Given the description of an element on the screen output the (x, y) to click on. 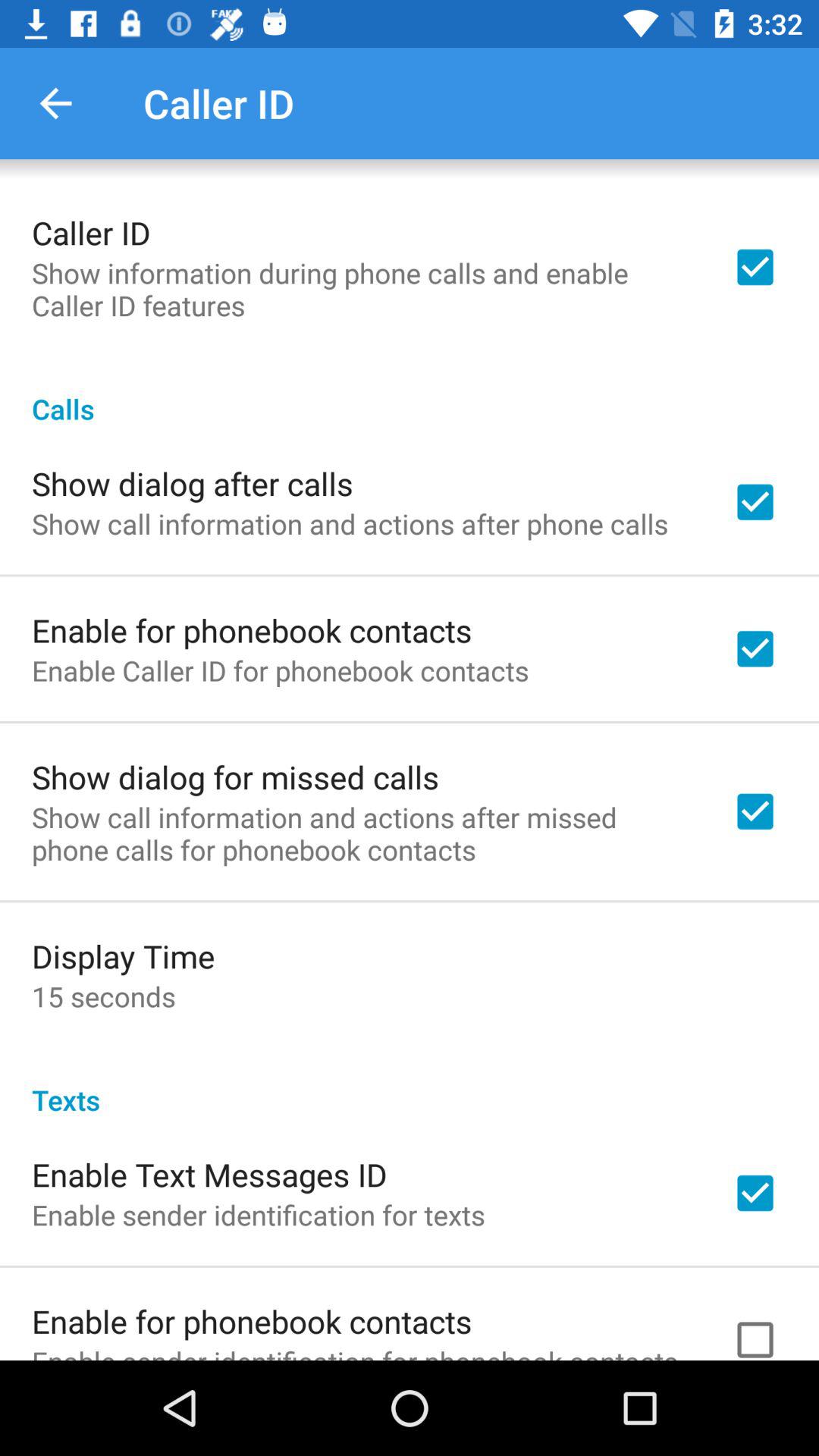
click the item above the enable sender identification icon (209, 1174)
